Given the description of an element on the screen output the (x, y) to click on. 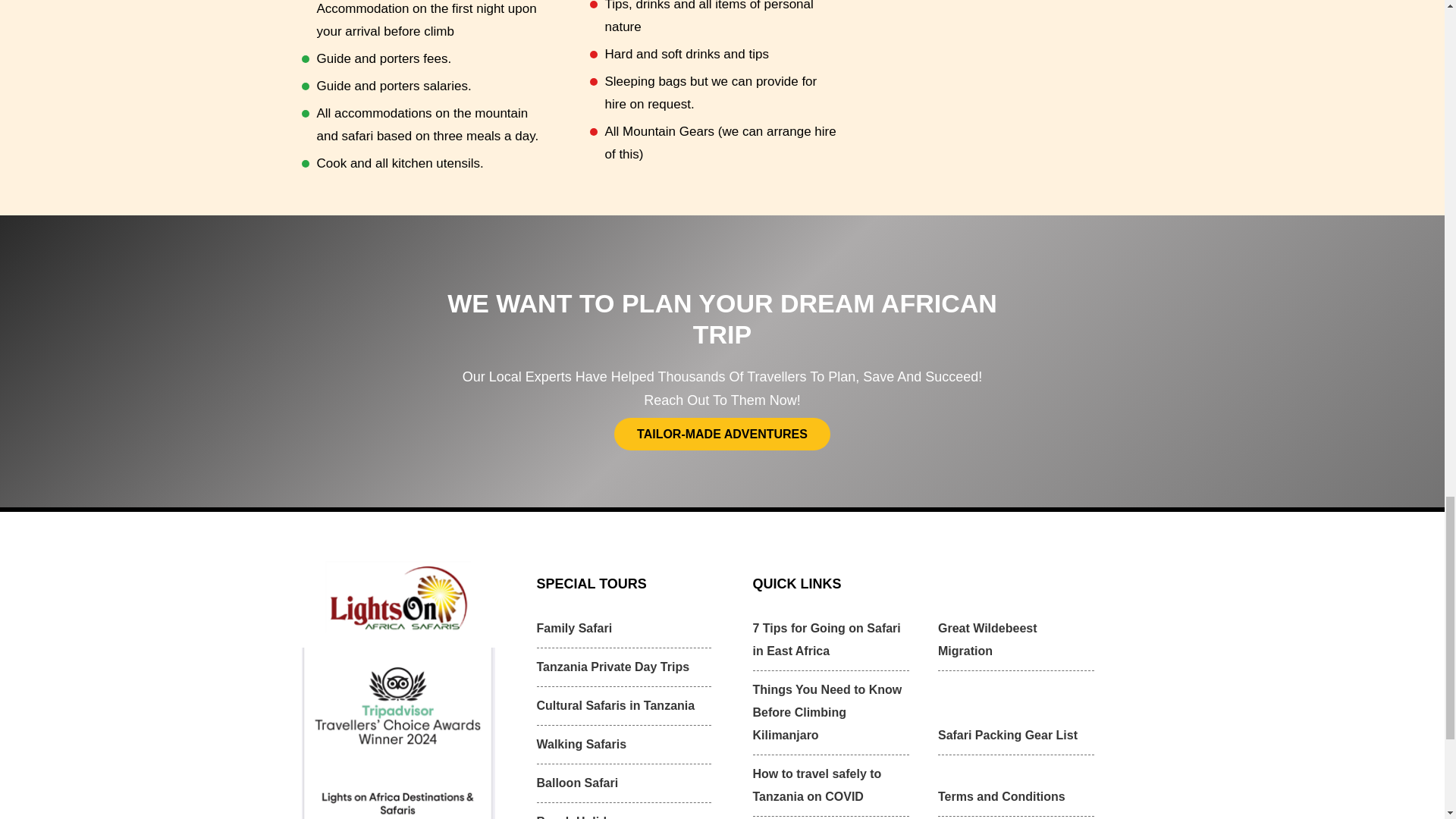
Family Safari (624, 628)
TAILOR-MADE ADVENTURES (721, 433)
Tanzania Private Day Trips (624, 667)
Cultural Safaris in Tanzania (624, 706)
